Given the description of an element on the screen output the (x, y) to click on. 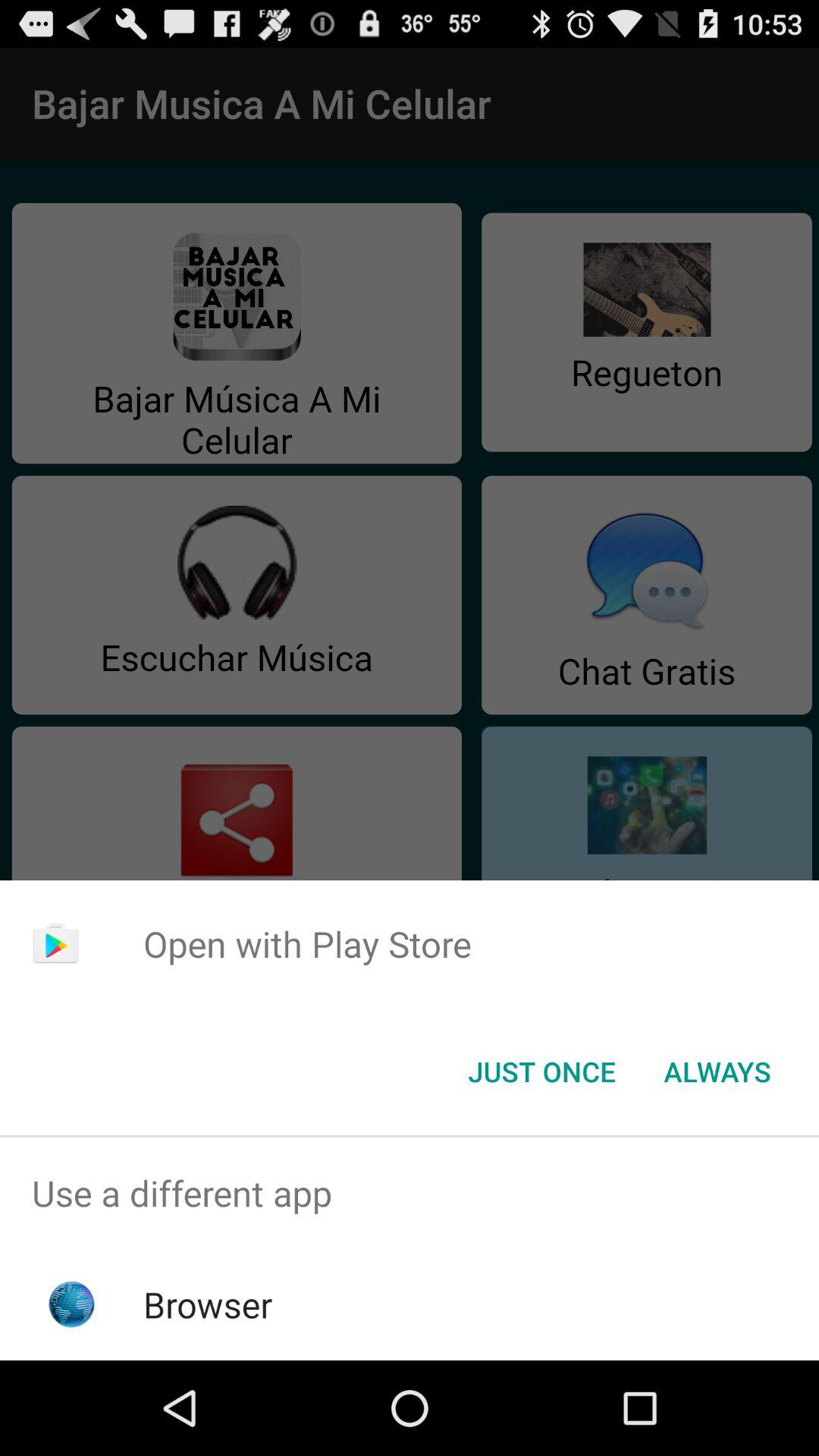
open icon below the use a different item (207, 1304)
